Given the description of an element on the screen output the (x, y) to click on. 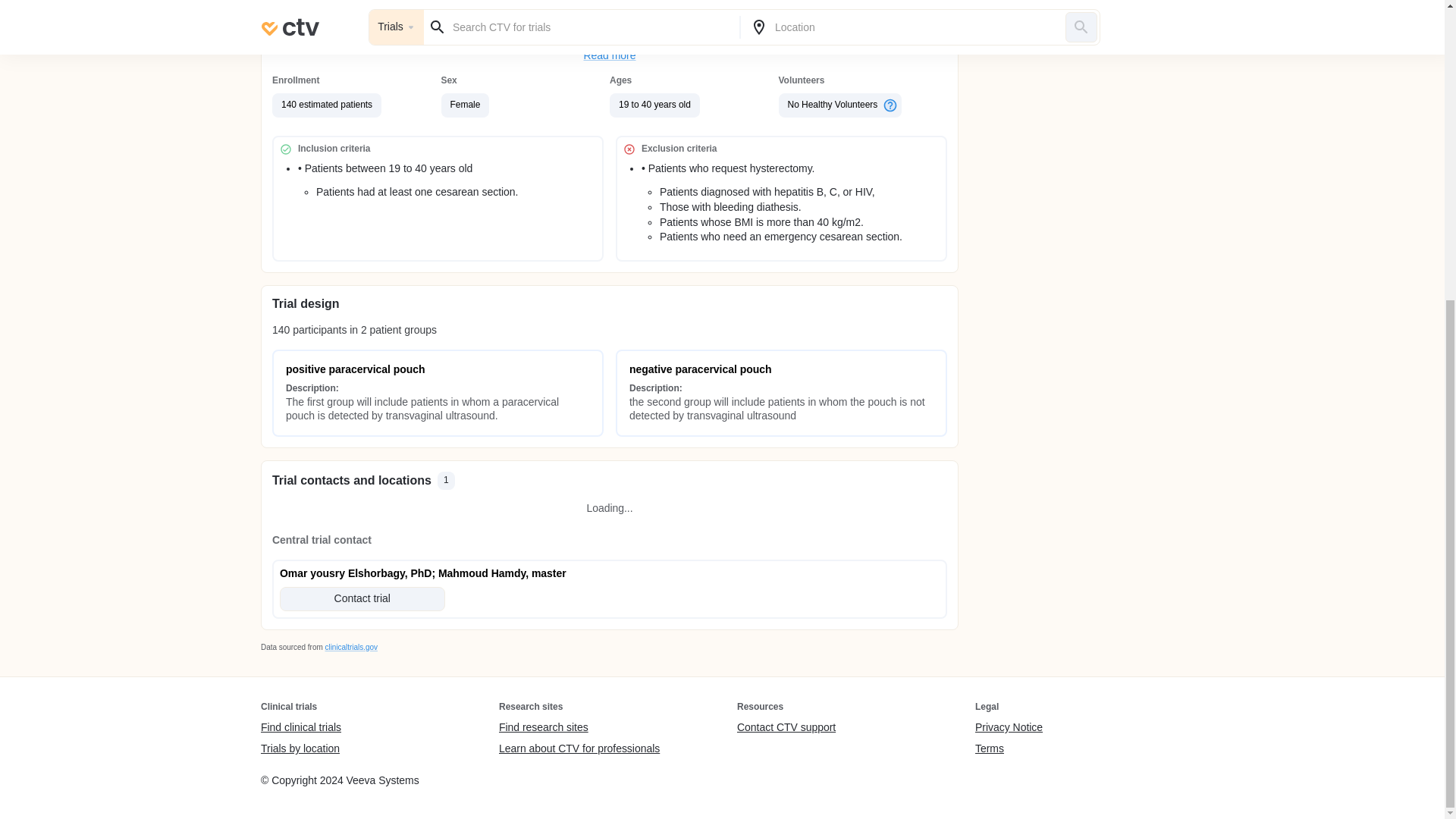
Learn about CTV for professionals (579, 748)
Privacy Notice (1008, 727)
Read more (609, 56)
Contact trial (362, 598)
Contact CTV support (785, 727)
clinicaltrials.gov (350, 646)
Terms (1008, 748)
Trials by location (300, 748)
Find clinical trials (300, 727)
Find research sites (579, 727)
